Given the description of an element on the screen output the (x, y) to click on. 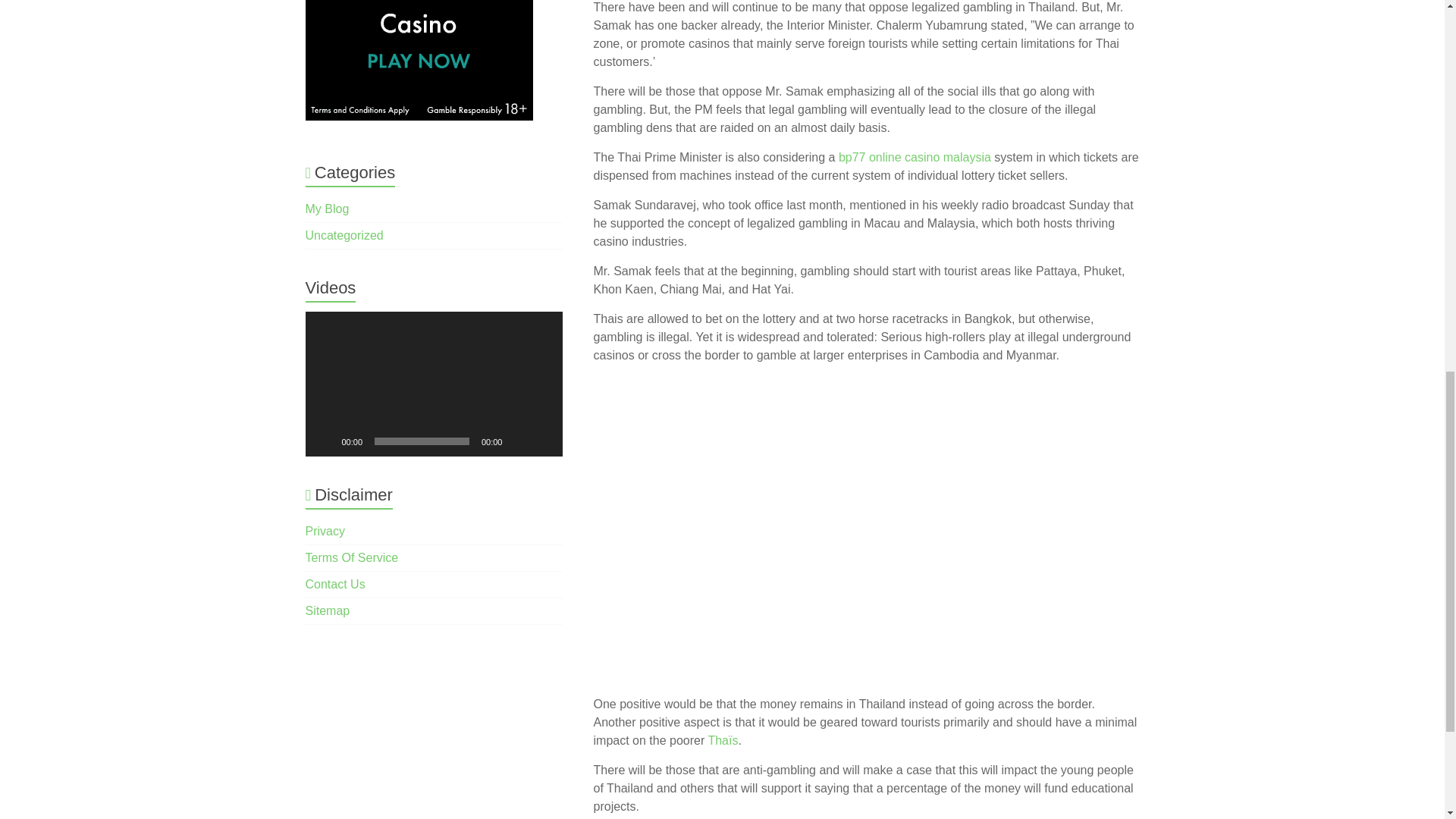
Mute (518, 441)
My Blog (326, 208)
Uncategorized (343, 235)
Sitemap (326, 610)
Contact Us (334, 584)
bp77 online casino malaysia (914, 156)
Privacy (323, 530)
Terms Of Service (350, 557)
Play (324, 441)
Fullscreen (542, 441)
